Given the description of an element on the screen output the (x, y) to click on. 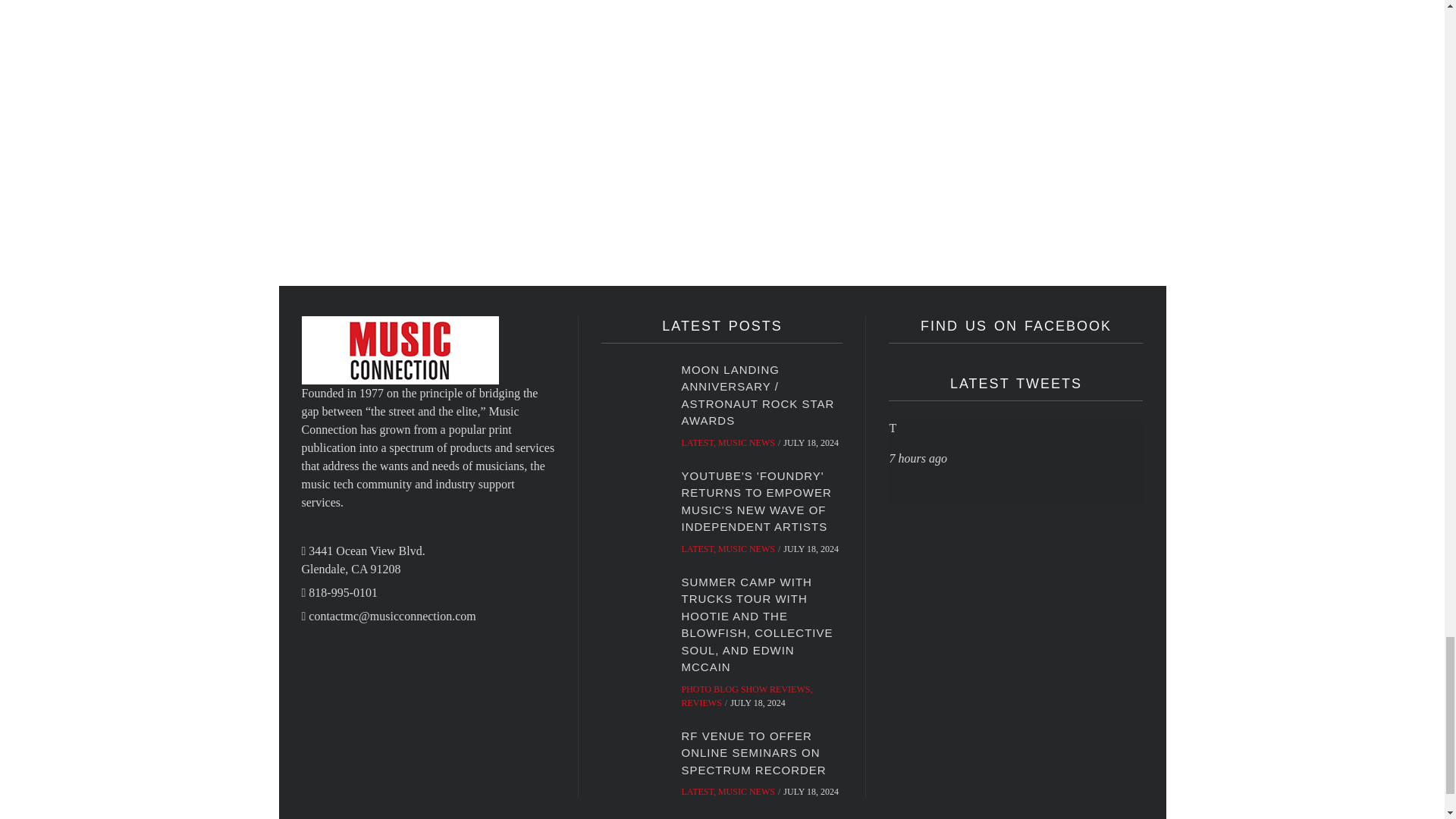
3rd party ad content (453, 213)
3rd party ad content (1002, 76)
3rd party ad content (884, 213)
